Given the description of an element on the screen output the (x, y) to click on. 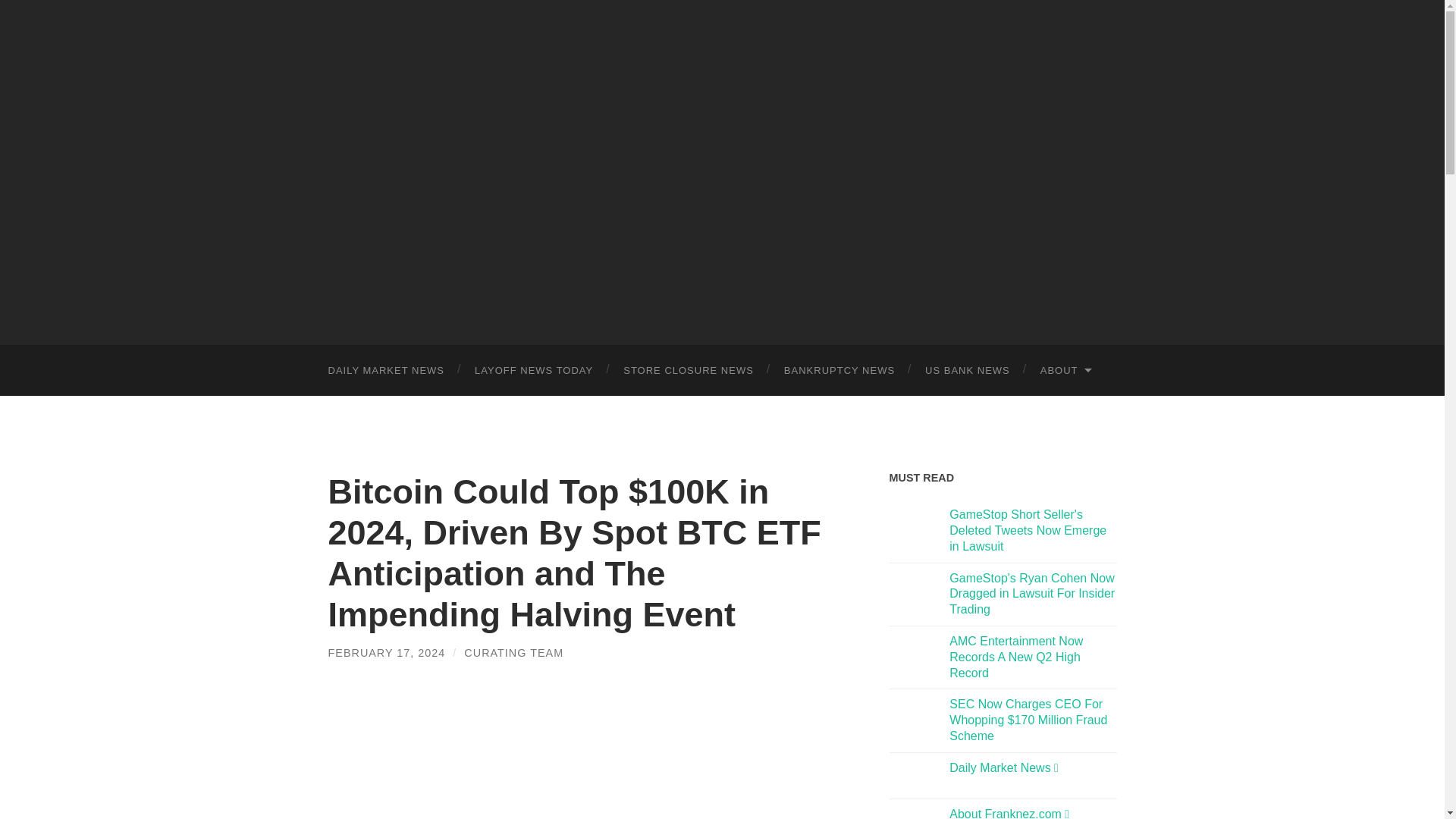
FEBRUARY 17, 2024 (386, 653)
Franknez.com (722, 170)
DAILY MARKET NEWS (386, 369)
ABOUT (1065, 369)
BANKRUPTCY NEWS (839, 369)
US BANK NEWS (967, 369)
GameStop Short Seller's Deleted Tweets Now Emerge in Lawsuit (1027, 529)
AMC Entertainment Now Records A New Q2 High Record (1016, 656)
Posts by Curating Team (513, 653)
STORE CLOSURE NEWS (688, 369)
CURATING TEAM (513, 653)
GameStop Short Seller's Deleted Tweets Now Emerge in Lawsuit (1027, 529)
LAYOFF NEWS TODAY (534, 369)
